Given the description of an element on the screen output the (x, y) to click on. 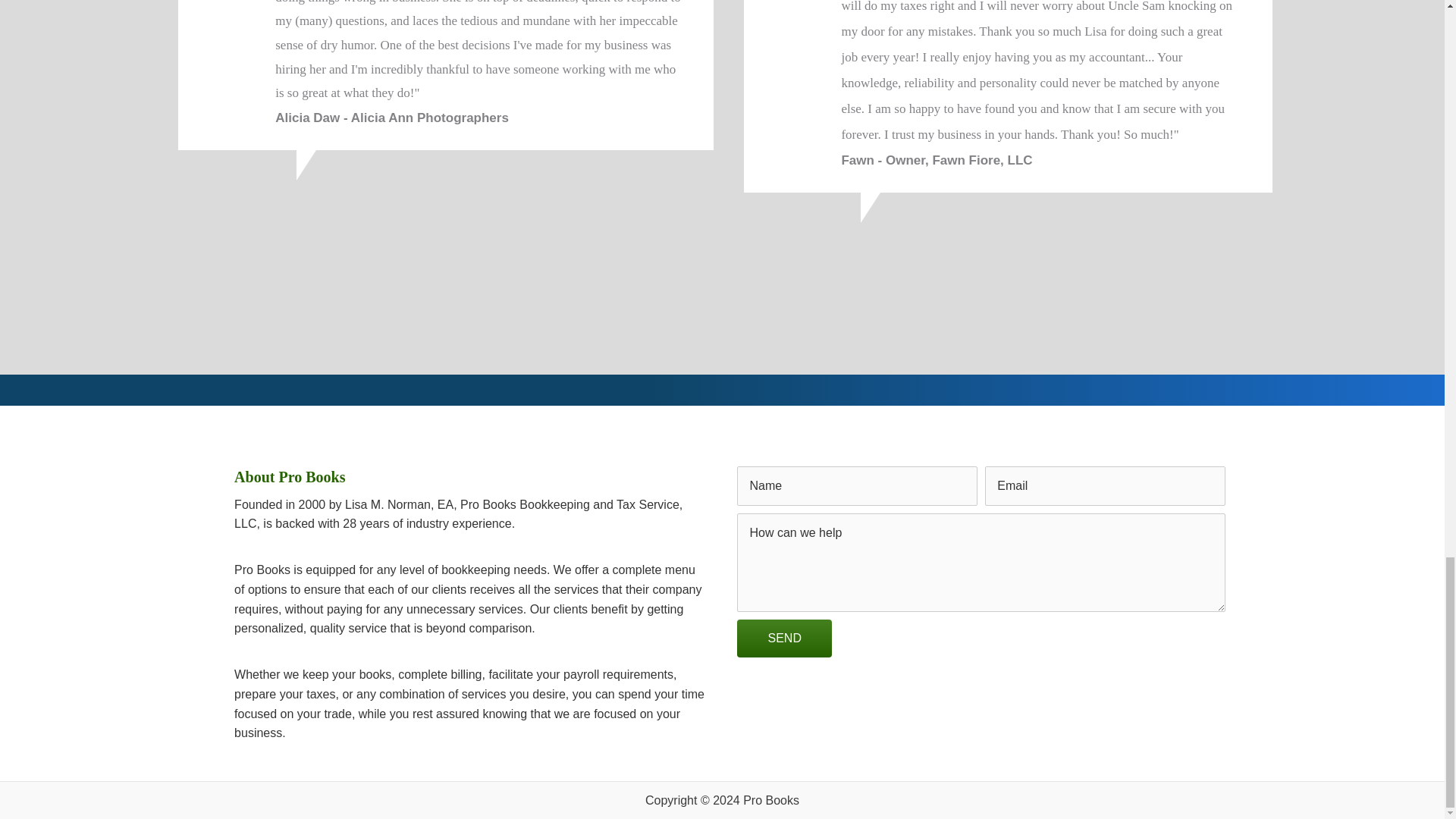
SEND (783, 638)
